Given the description of an element on the screen output the (x, y) to click on. 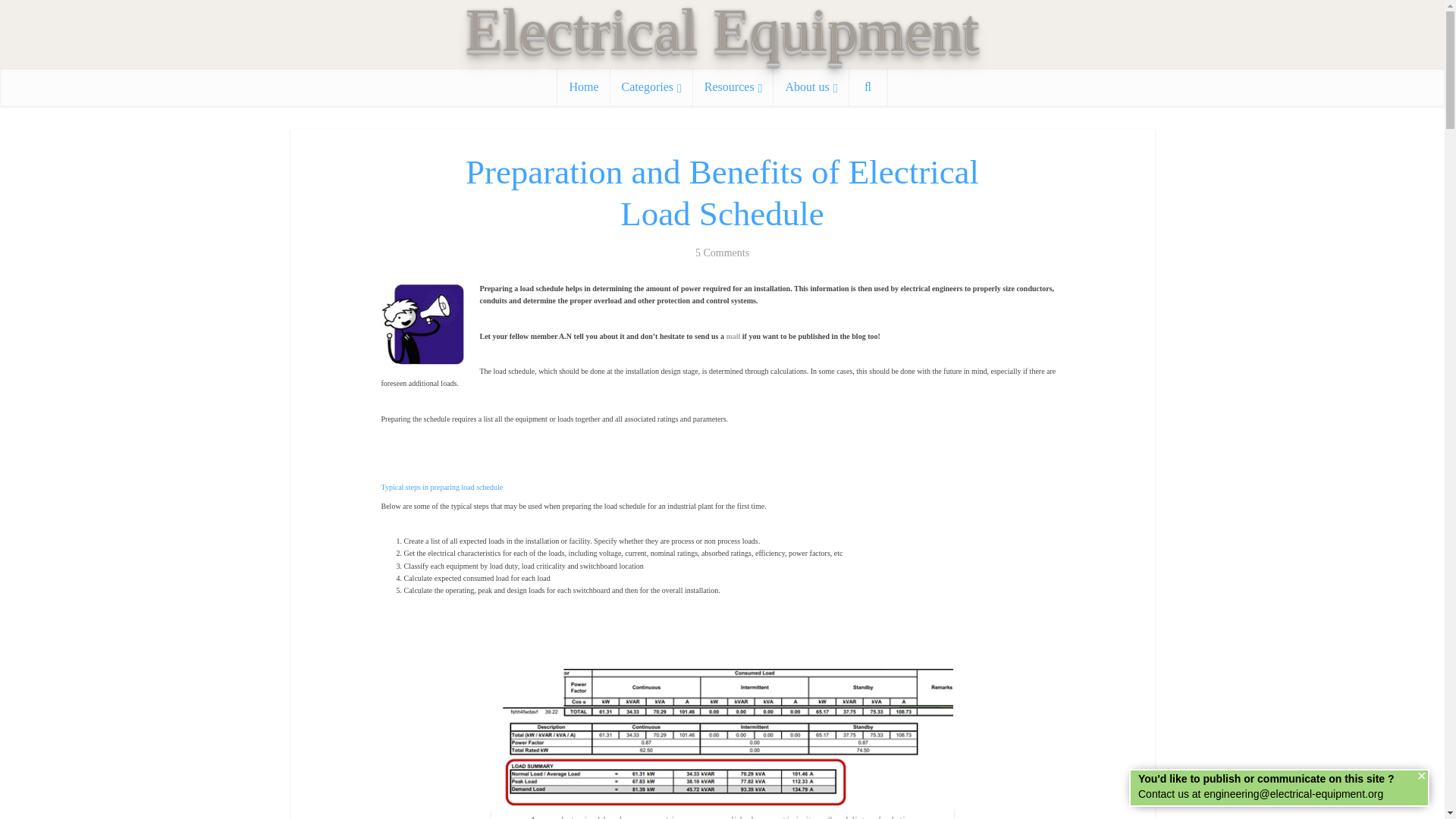
Resources (733, 86)
Home (583, 86)
Electrical Equipment (722, 30)
Categories (651, 86)
About us (810, 86)
